Given the description of an element on the screen output the (x, y) to click on. 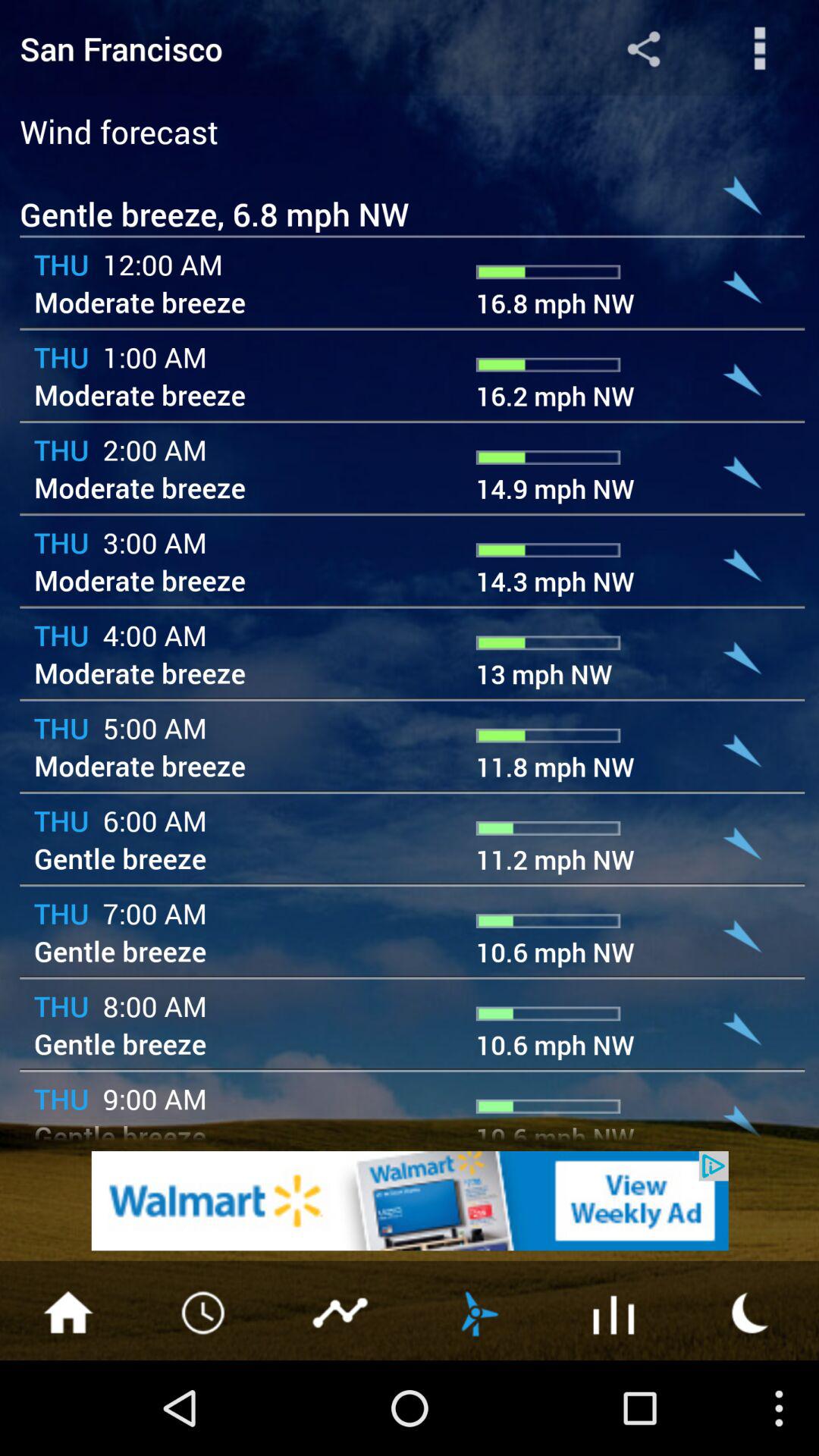
ssare button (643, 48)
